Given the description of an element on the screen output the (x, y) to click on. 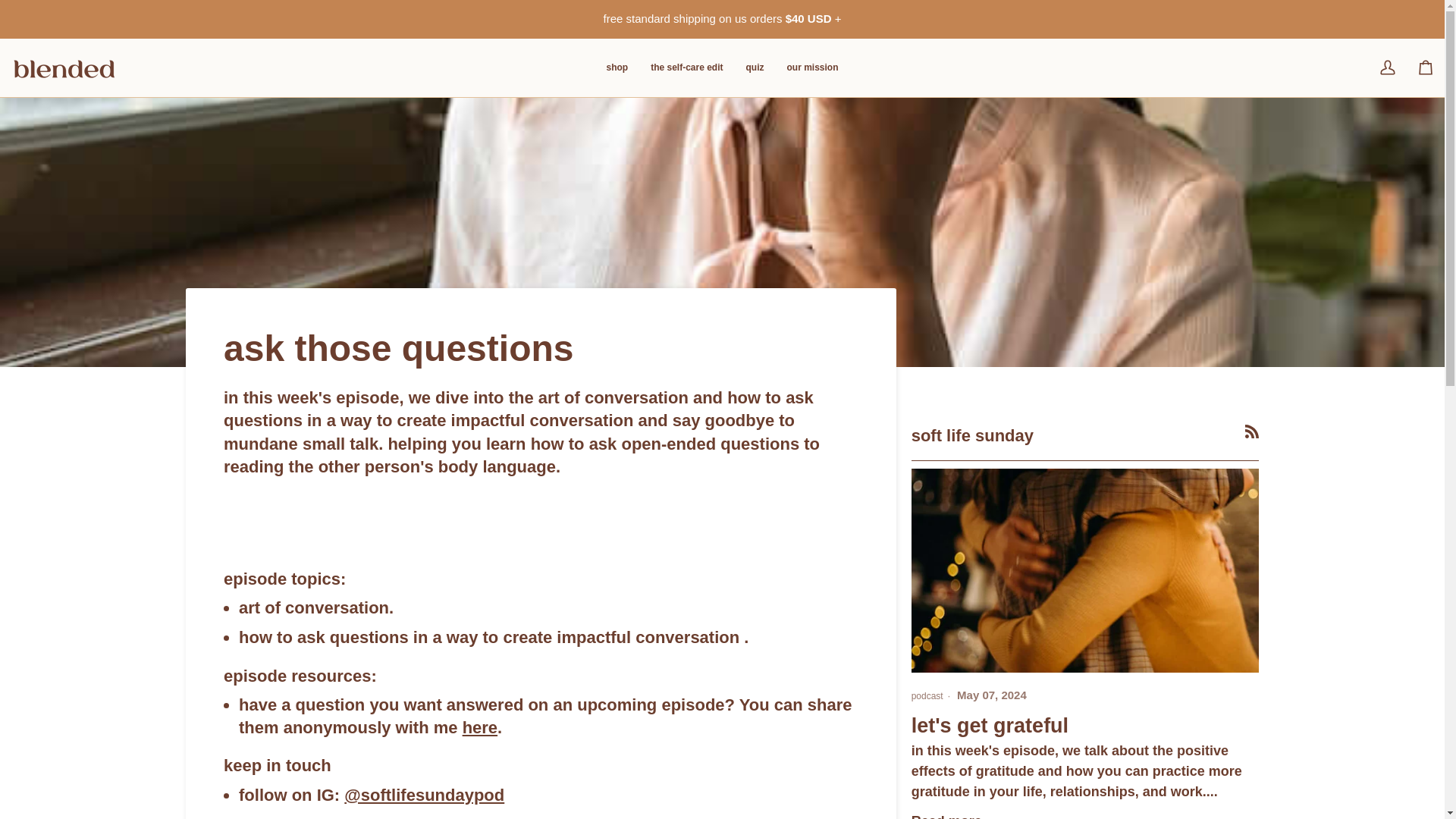
here (480, 727)
shop (616, 66)
soft advice with erica a. (480, 727)
quiz (755, 66)
blended RSS (1251, 431)
our mission (813, 66)
let's get grateful (989, 725)
Read more (946, 816)
My Account (1387, 66)
the self-care edit (686, 66)
RSS (1251, 431)
softlifesundaypod (423, 794)
